Given the description of an element on the screen output the (x, y) to click on. 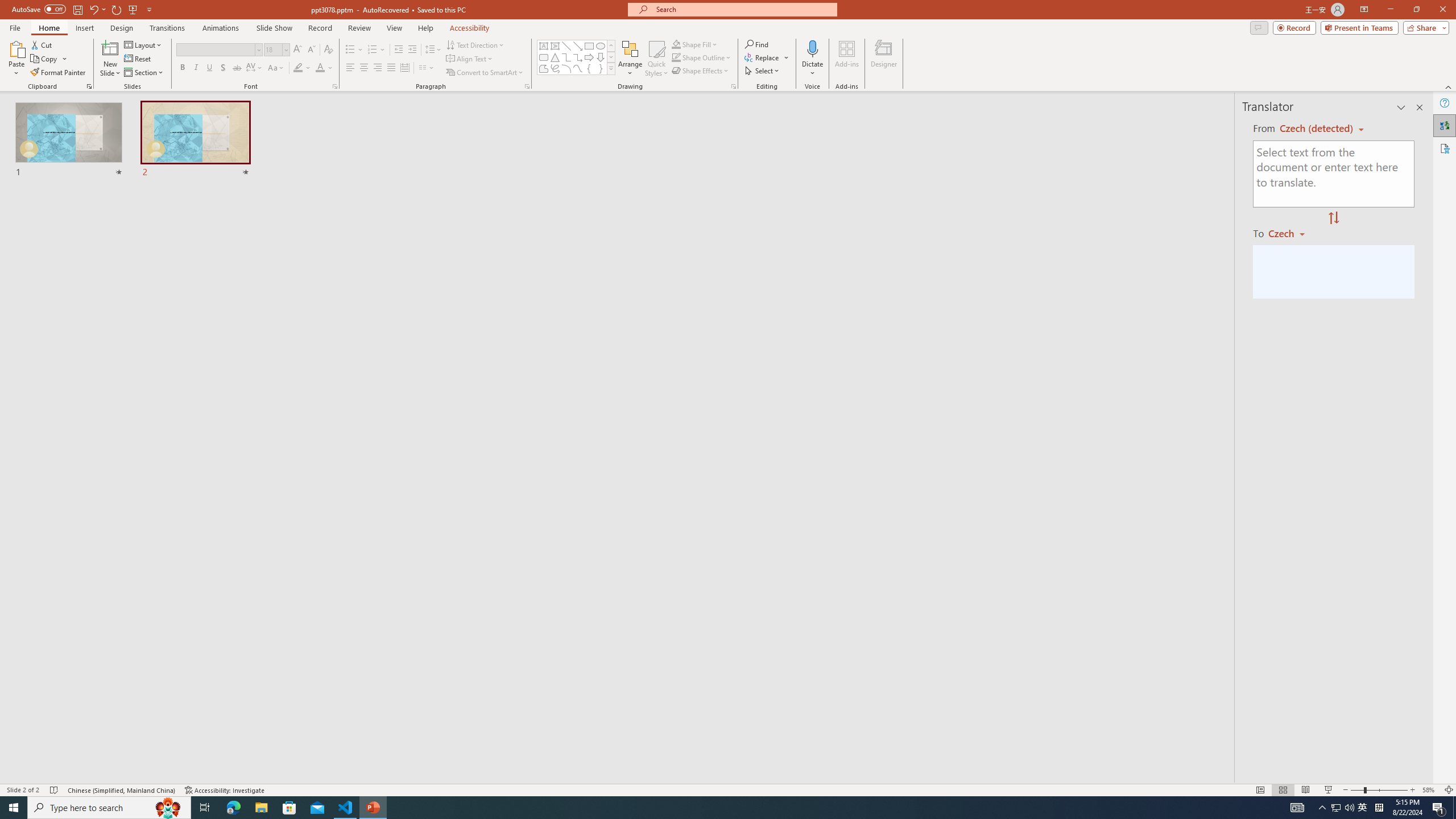
New Slide (110, 58)
Save (77, 9)
Accessibility Checker Accessibility: Investigate (224, 790)
Increase Font Size (297, 49)
Justify (390, 67)
Align Left (349, 67)
Freeform: Shape (543, 68)
Font Color Red (320, 67)
Isosceles Triangle (554, 57)
Ribbon Display Options (1364, 9)
Paste (16, 48)
Line (566, 45)
